Given the description of an element on the screen output the (x, y) to click on. 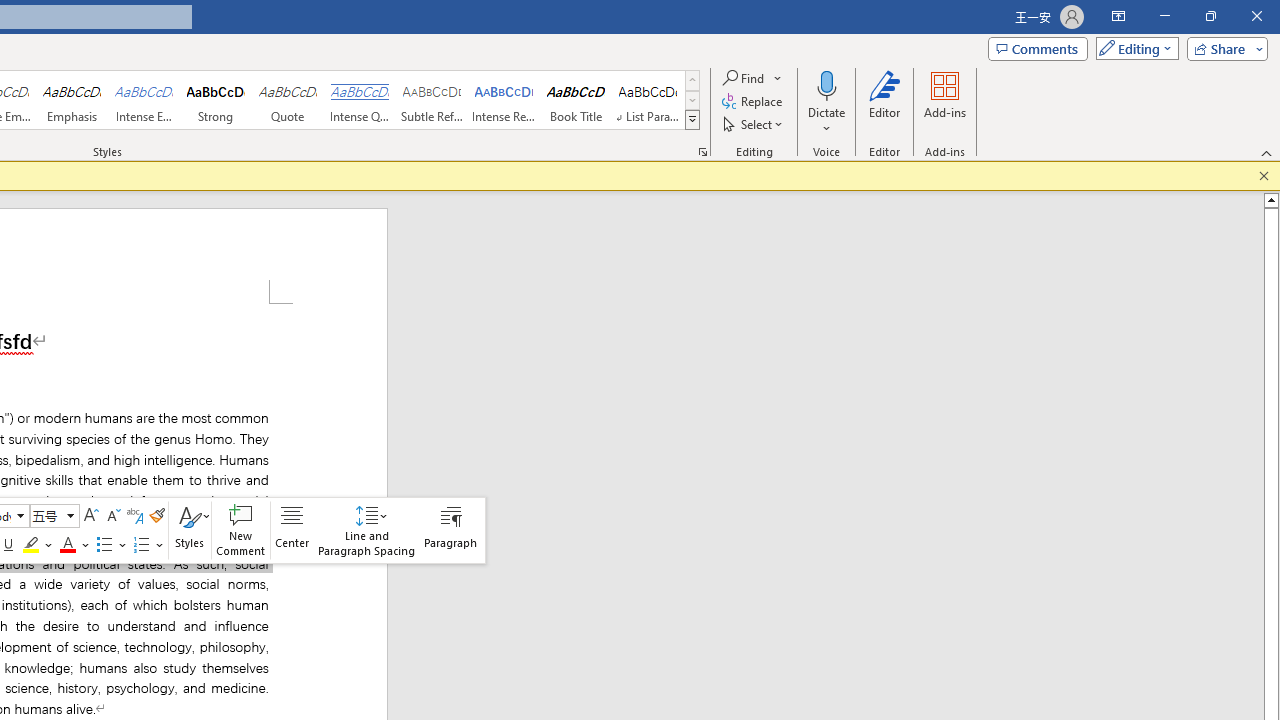
Quote (287, 100)
Line up (1271, 199)
